Given the description of an element on the screen output the (x, y) to click on. 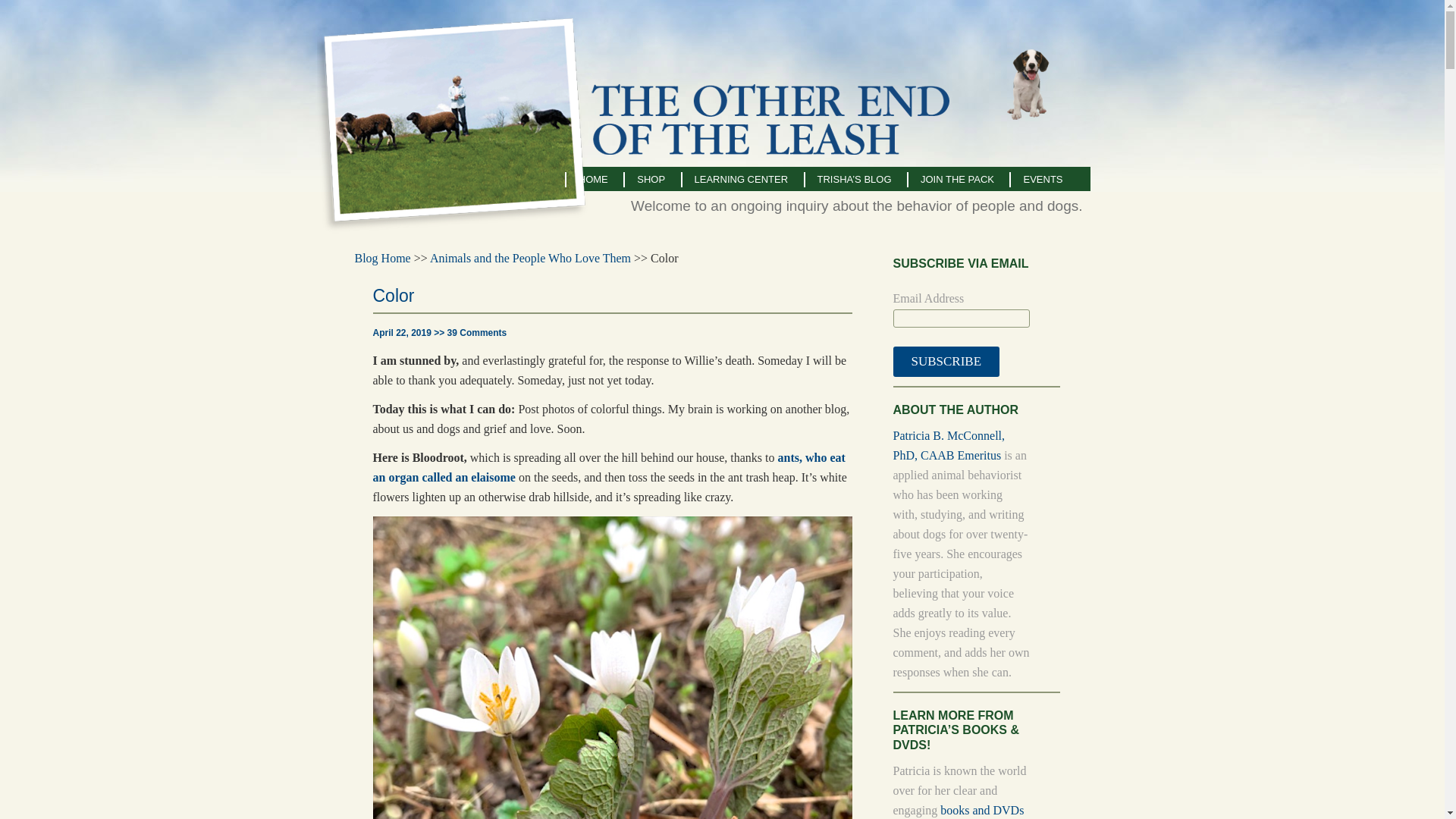
EVENTS (1041, 179)
LEARNING CENTER (740, 179)
39 Comments (476, 332)
HOME (592, 179)
JOIN THE PACK (956, 179)
Animals and the People Who Love Them (529, 257)
SHOP (650, 179)
ants, who eat an organ called an elaisome (608, 467)
Blog Home (382, 257)
Subscribe (946, 361)
